Given the description of an element on the screen output the (x, y) to click on. 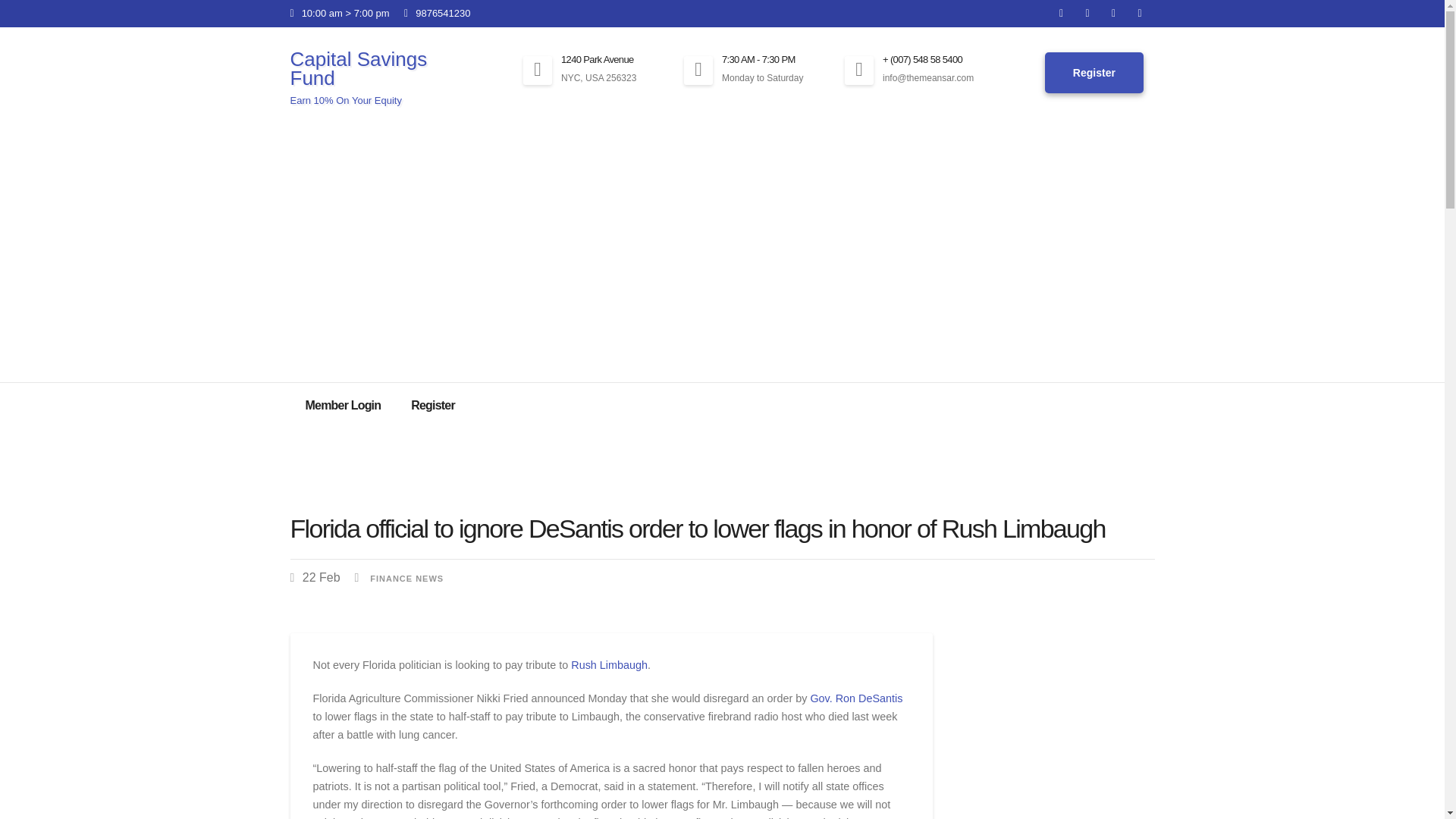
Rush Limbaugh (608, 664)
Member Login (342, 405)
9876541230 (437, 12)
Gov. Ron DeSantis (855, 698)
Register (433, 405)
FINANCE NEWS (406, 578)
Register (1092, 73)
